Given the description of an element on the screen output the (x, y) to click on. 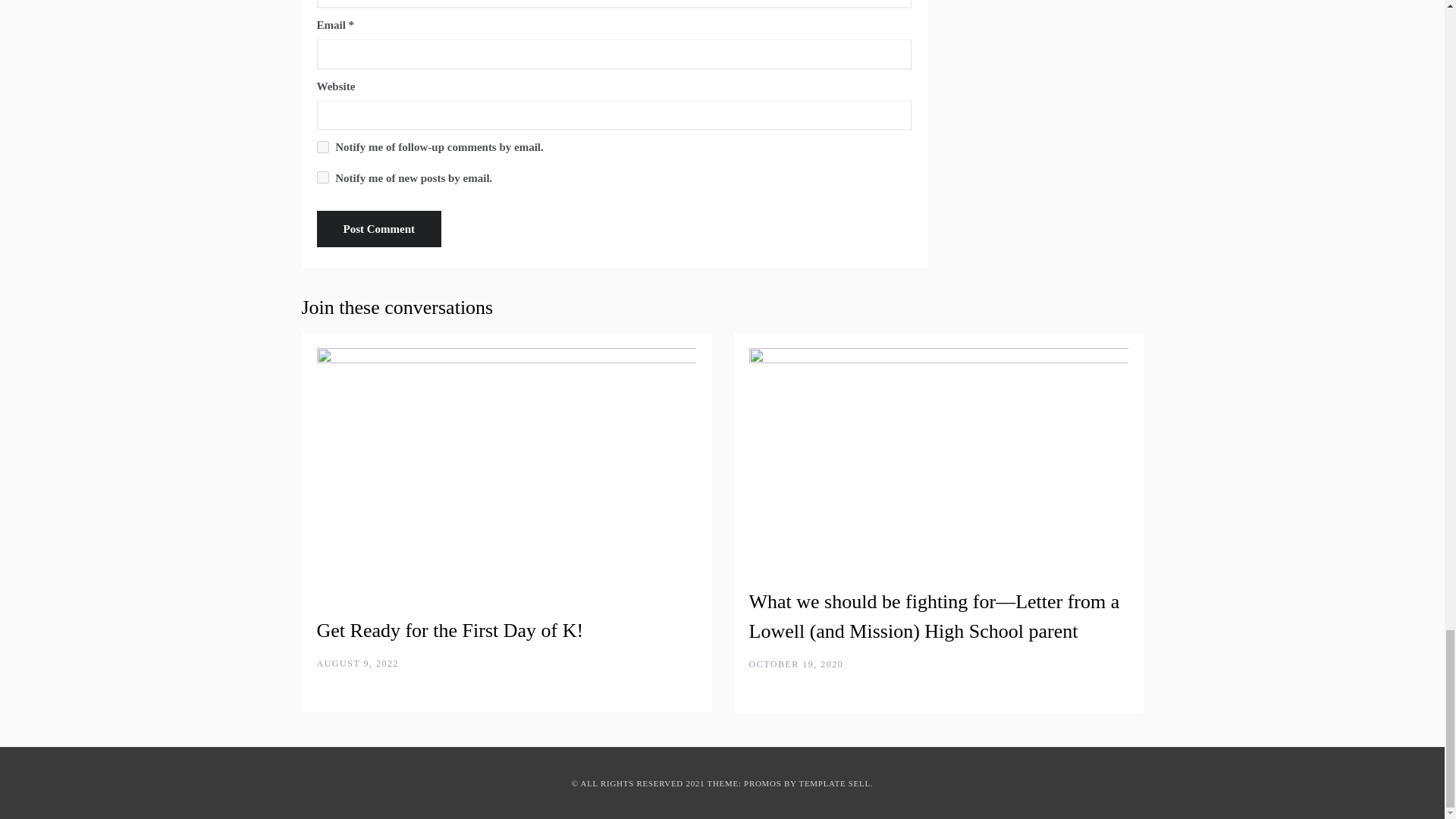
subscribe (323, 146)
Post Comment (379, 228)
subscribe (323, 177)
